Given the description of an element on the screen output the (x, y) to click on. 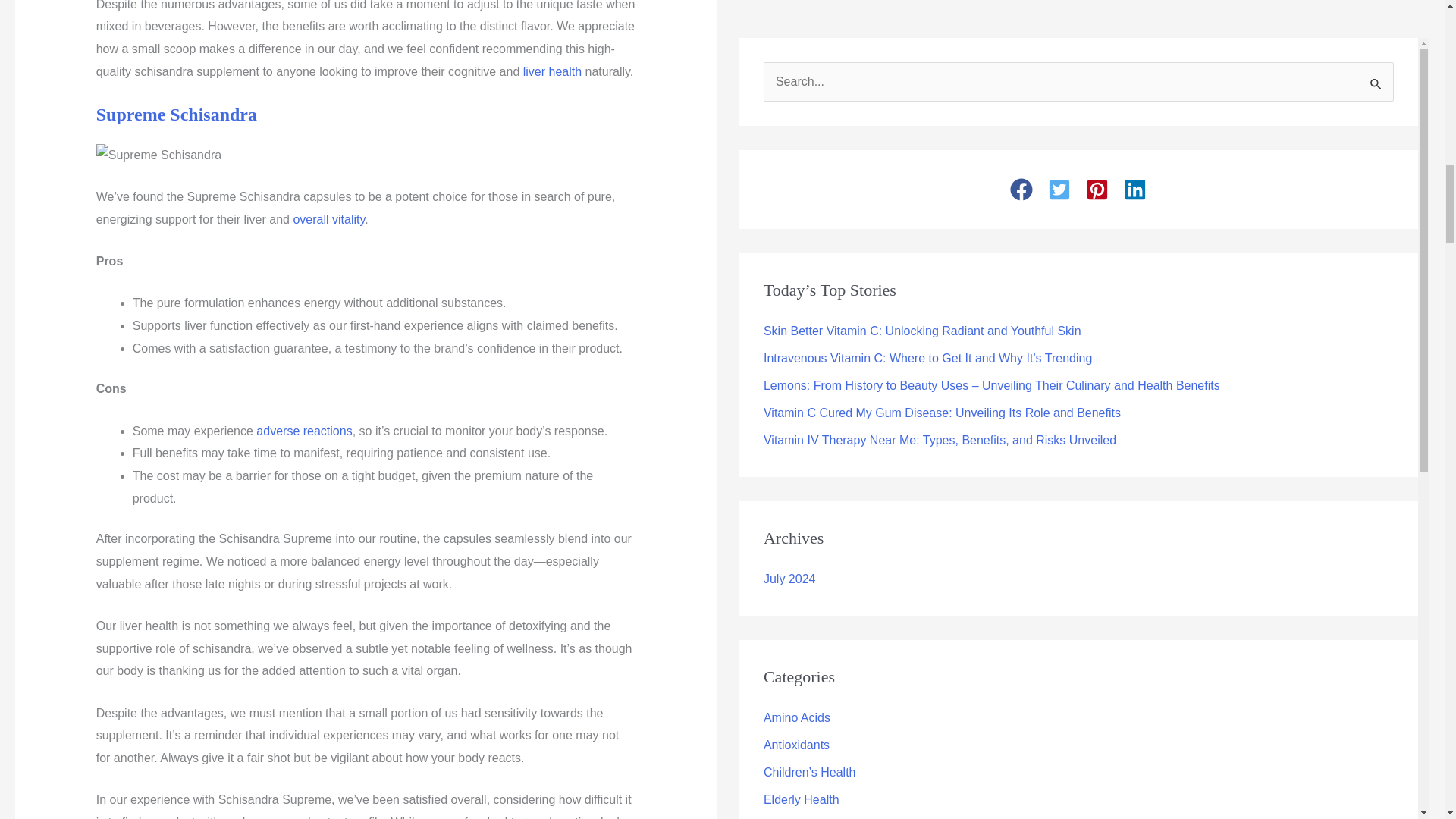
Supreme Schisandra (176, 114)
liver health (551, 71)
overall vitality (328, 219)
adverse reactions (304, 431)
